Given the description of an element on the screen output the (x, y) to click on. 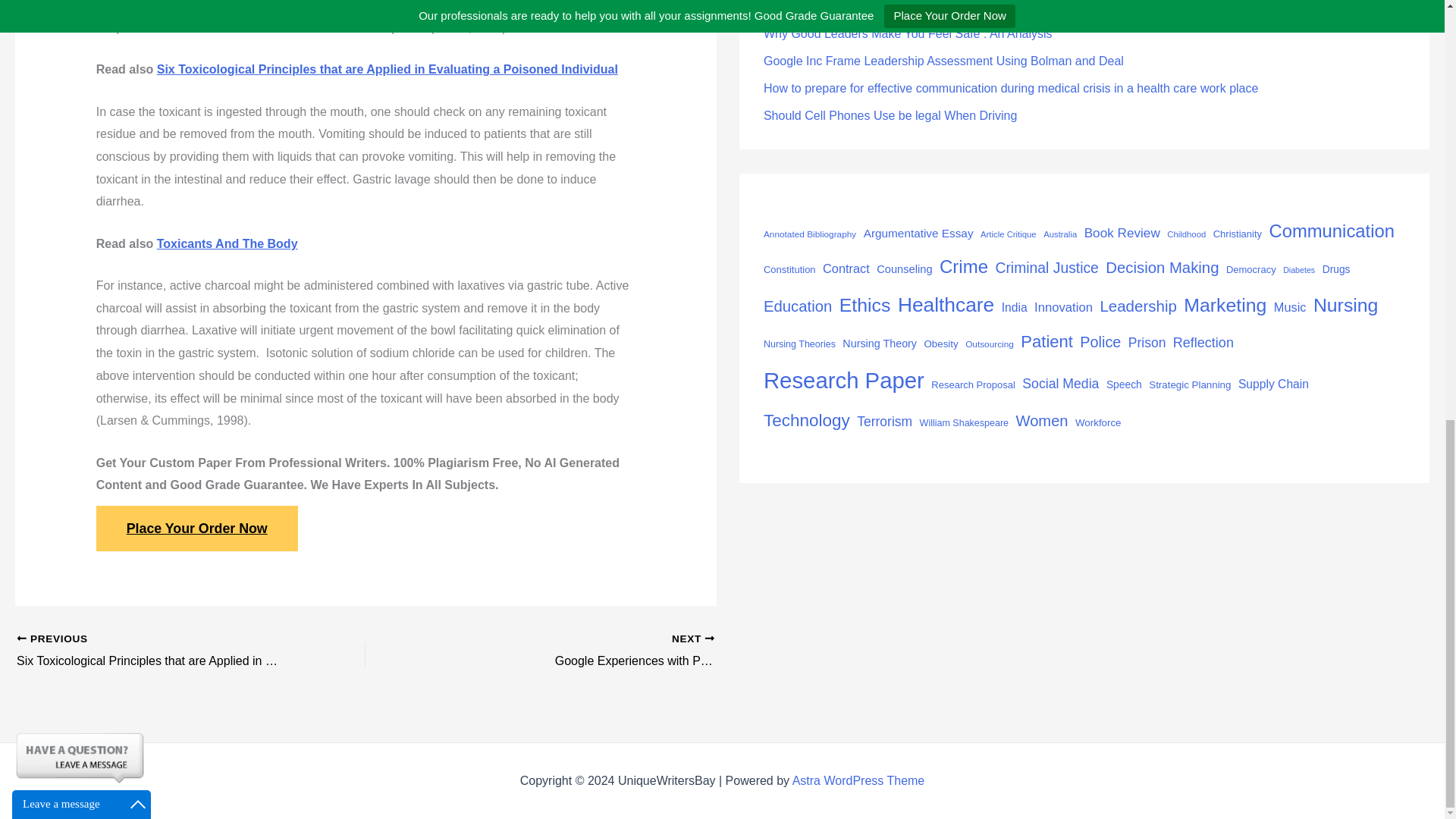
Book Review (1122, 232)
Place Your Order Now (197, 528)
Contract (627, 650)
Should Cell Phones Use be legal When Driving (845, 268)
Argumentative Essay (889, 115)
Constitution (918, 233)
Diabetes (788, 270)
Google Experiences with People Analytics (1298, 270)
Article Critique (627, 650)
Criminal Justice (1007, 234)
Education (1045, 268)
Why Good Leaders Make You Feel Safe : An Analysis (796, 306)
Christianity (907, 33)
